Given the description of an element on the screen output the (x, y) to click on. 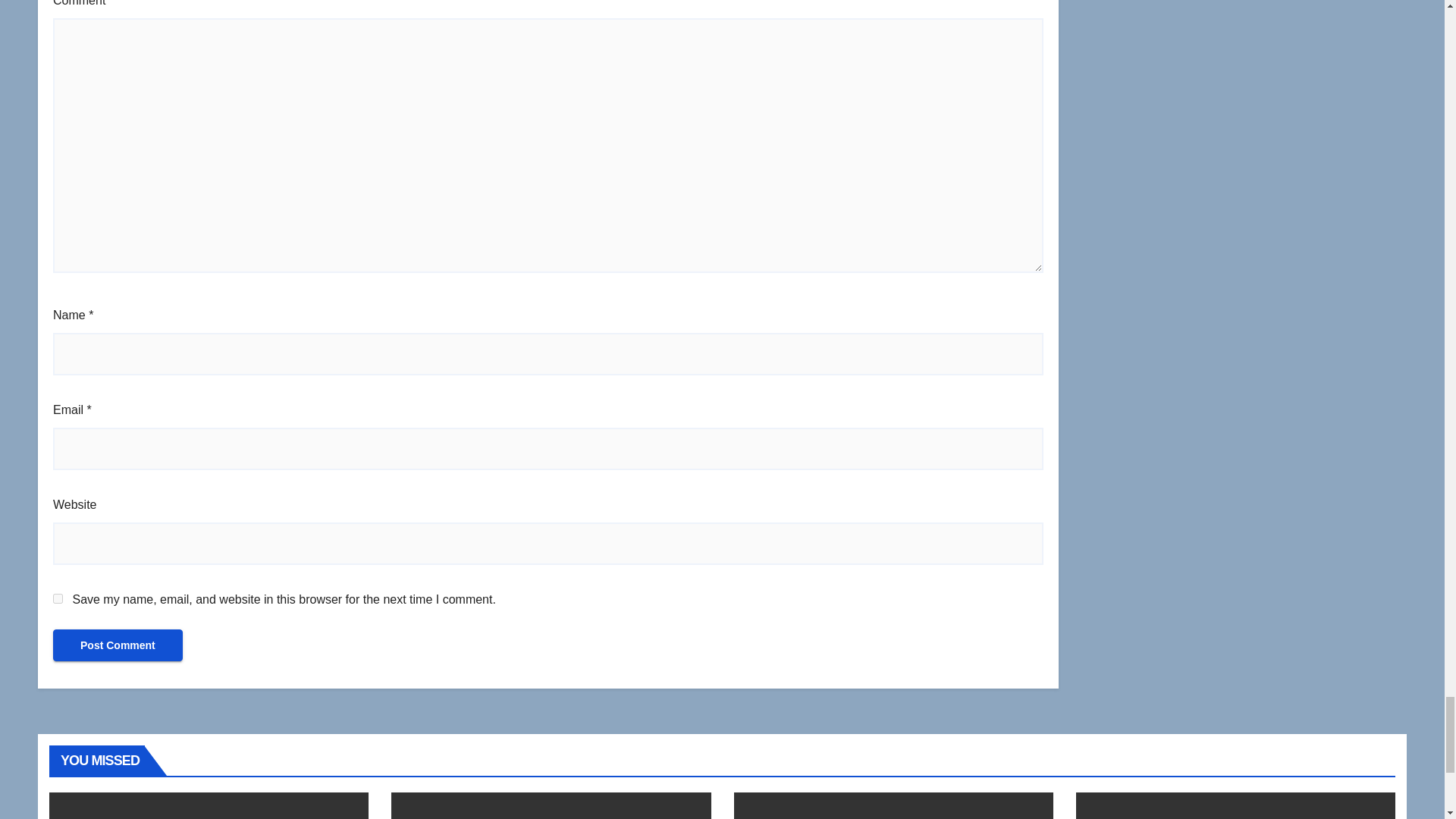
yes (57, 598)
Post Comment (117, 644)
